Given the description of an element on the screen output the (x, y) to click on. 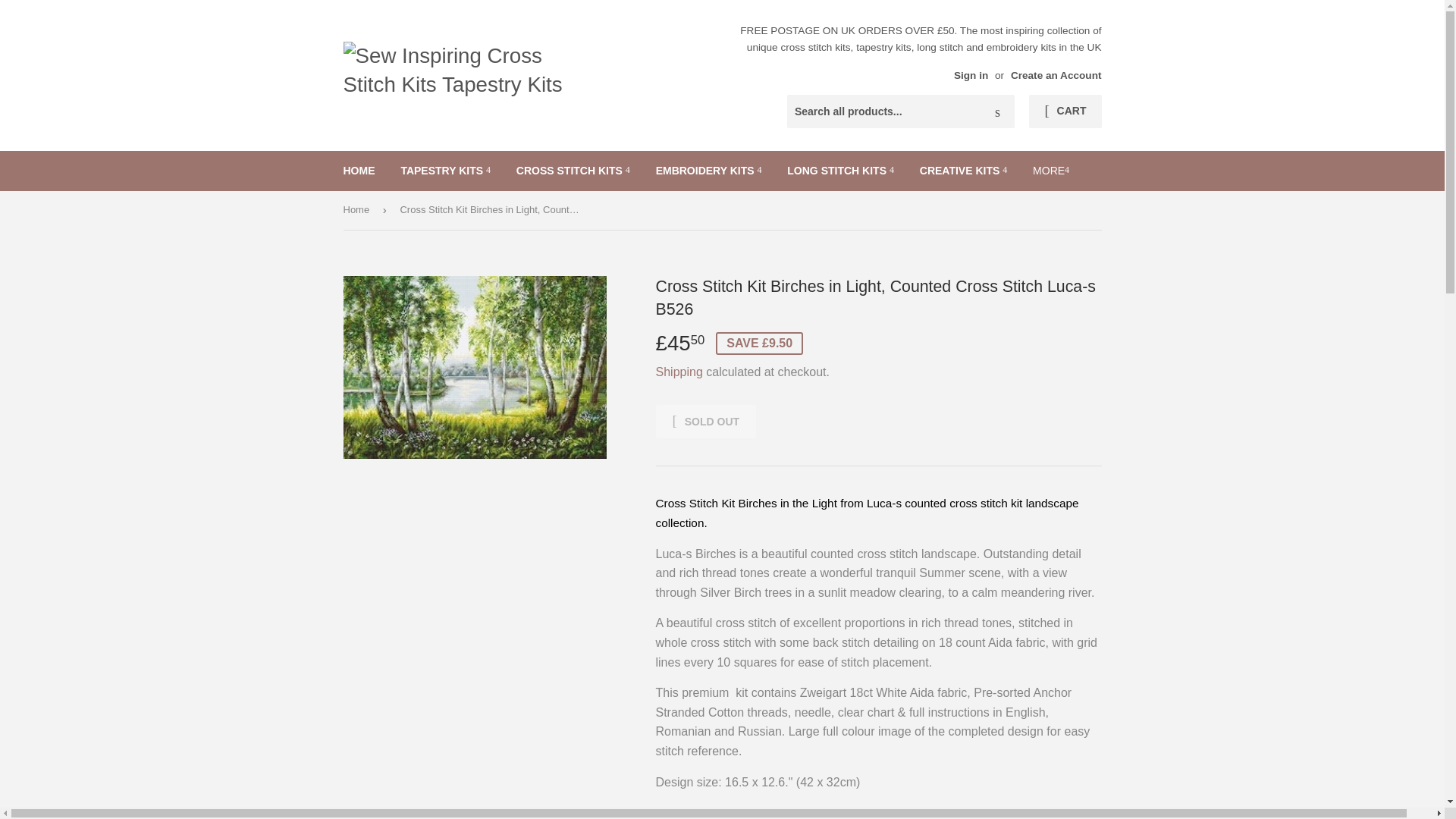
Search (996, 111)
Sign in (970, 75)
Create an Account (1056, 75)
CART (1064, 111)
